Given the description of an element on the screen output the (x, y) to click on. 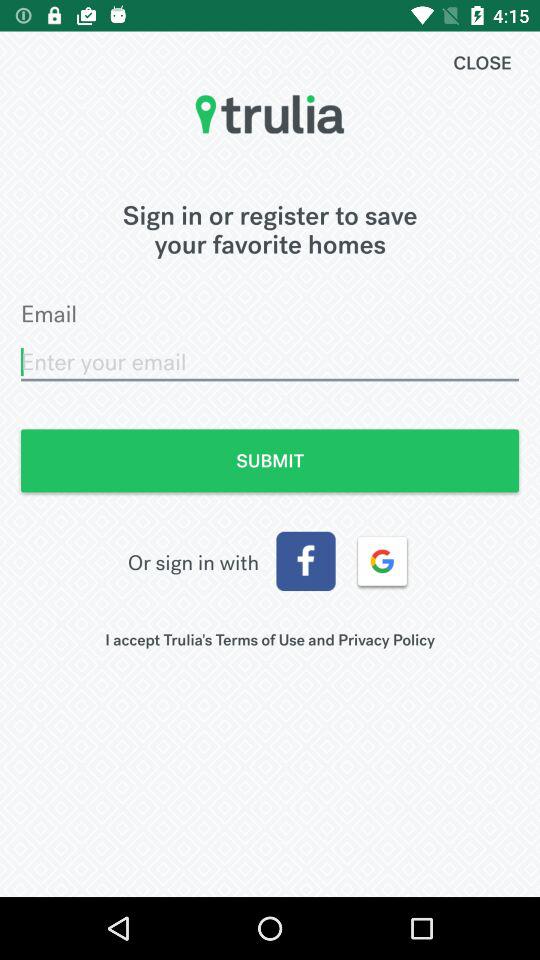
clique para entrar com o facebook (305, 561)
